Given the description of an element on the screen output the (x, y) to click on. 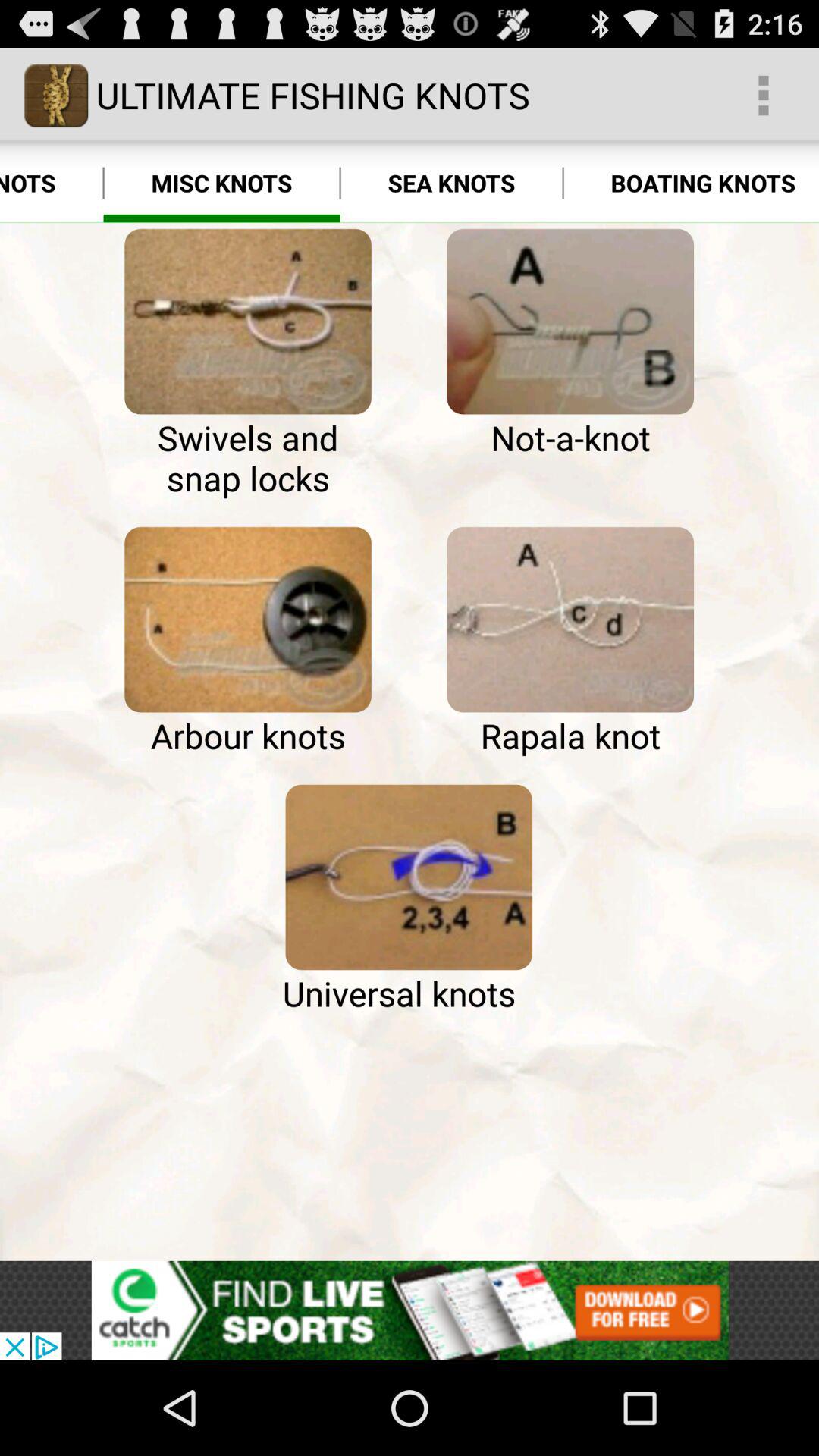
turn off the icon to the right of the hook knots (221, 182)
